Given the description of an element on the screen output the (x, y) to click on. 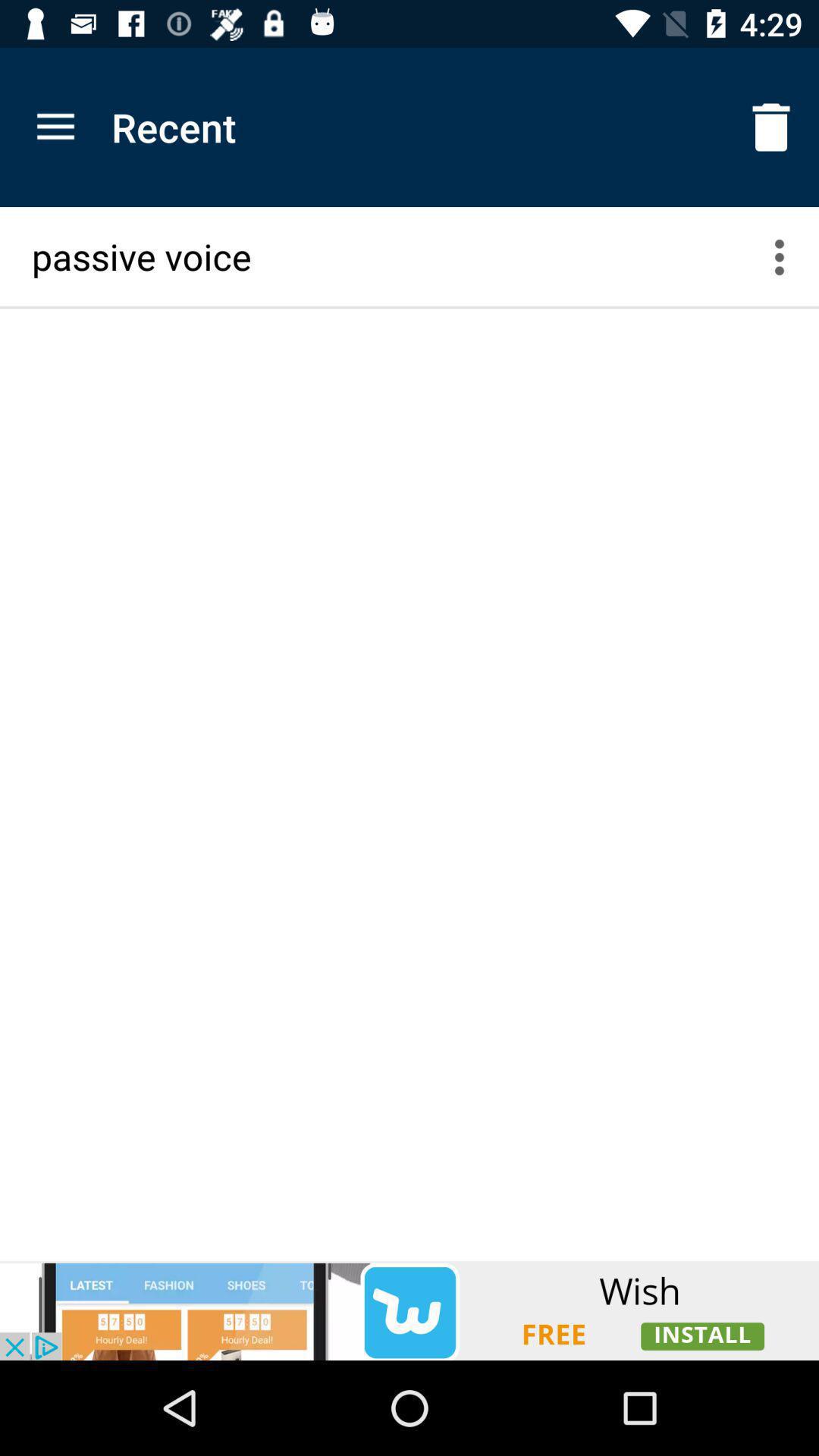
share the article (409, 1310)
